Given the description of an element on the screen output the (x, y) to click on. 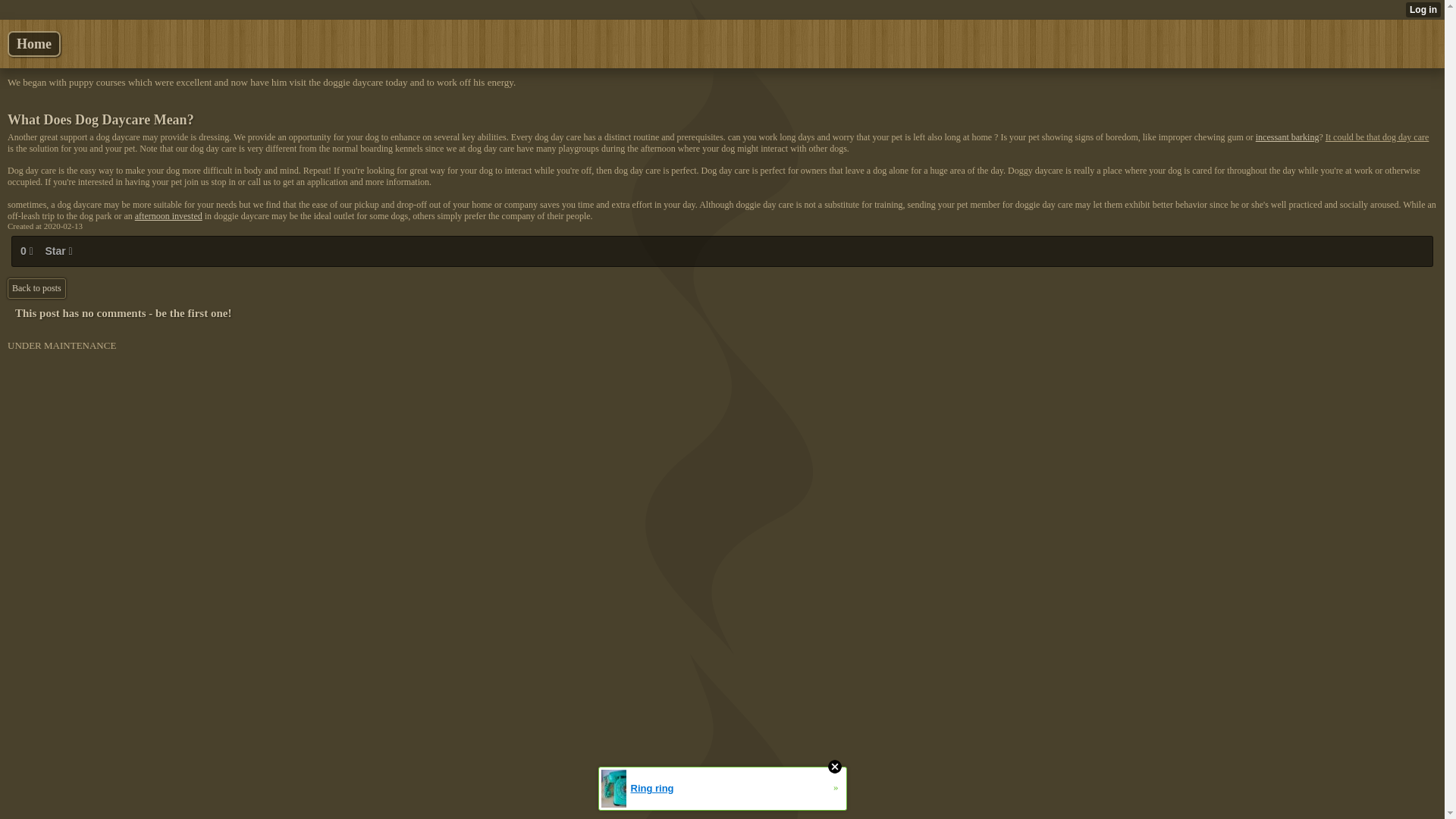
Home (34, 43)
0 (25, 251)
Star (58, 251)
Back to posts (36, 288)
incessant barking (1287, 136)
afternoon invested (168, 215)
